Given the description of an element on the screen output the (x, y) to click on. 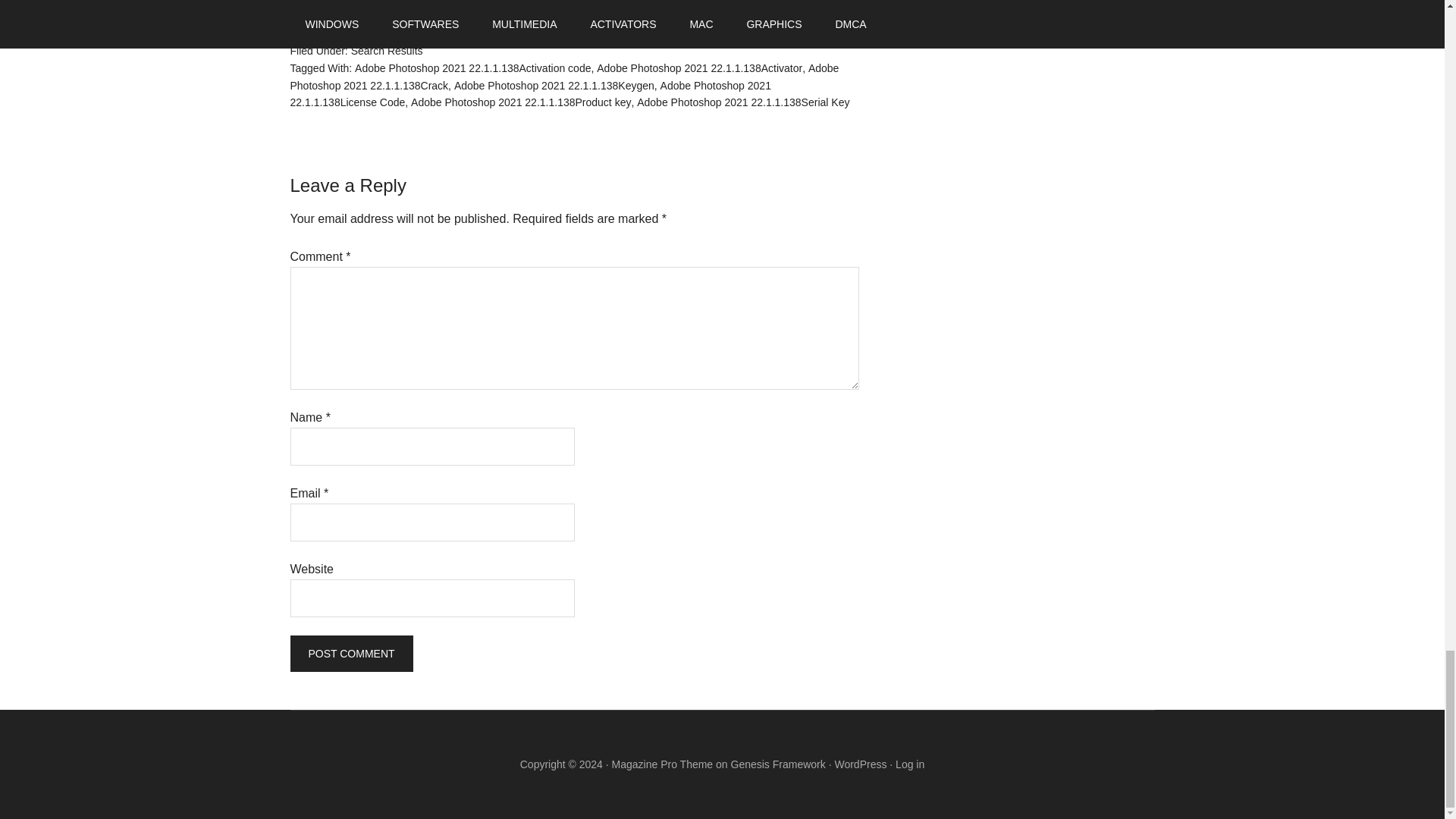
Post Comment (350, 653)
Log in (909, 764)
WordPress (860, 764)
Adobe Photoshop 2021 22.1.1.138Serial Key (742, 102)
Adobe Photoshop 2021 22.1.1.138Keygen (553, 85)
Adobe Photoshop 2021 22.1.1.138Product key (520, 102)
Adobe Photoshop 2021 22.1.1.138Crack (563, 76)
Search Results (386, 50)
Post Comment (350, 653)
Genesis Framework (777, 764)
Magazine Pro Theme (662, 764)
Adobe Photoshop 2021 22.1.1.138Activator (699, 68)
Adobe Photoshop 2021 22.1.1.138Activation code (473, 68)
Adobe Photoshop 2021 22.1.1.138License Code (529, 93)
